Given the description of an element on the screen output the (x, y) to click on. 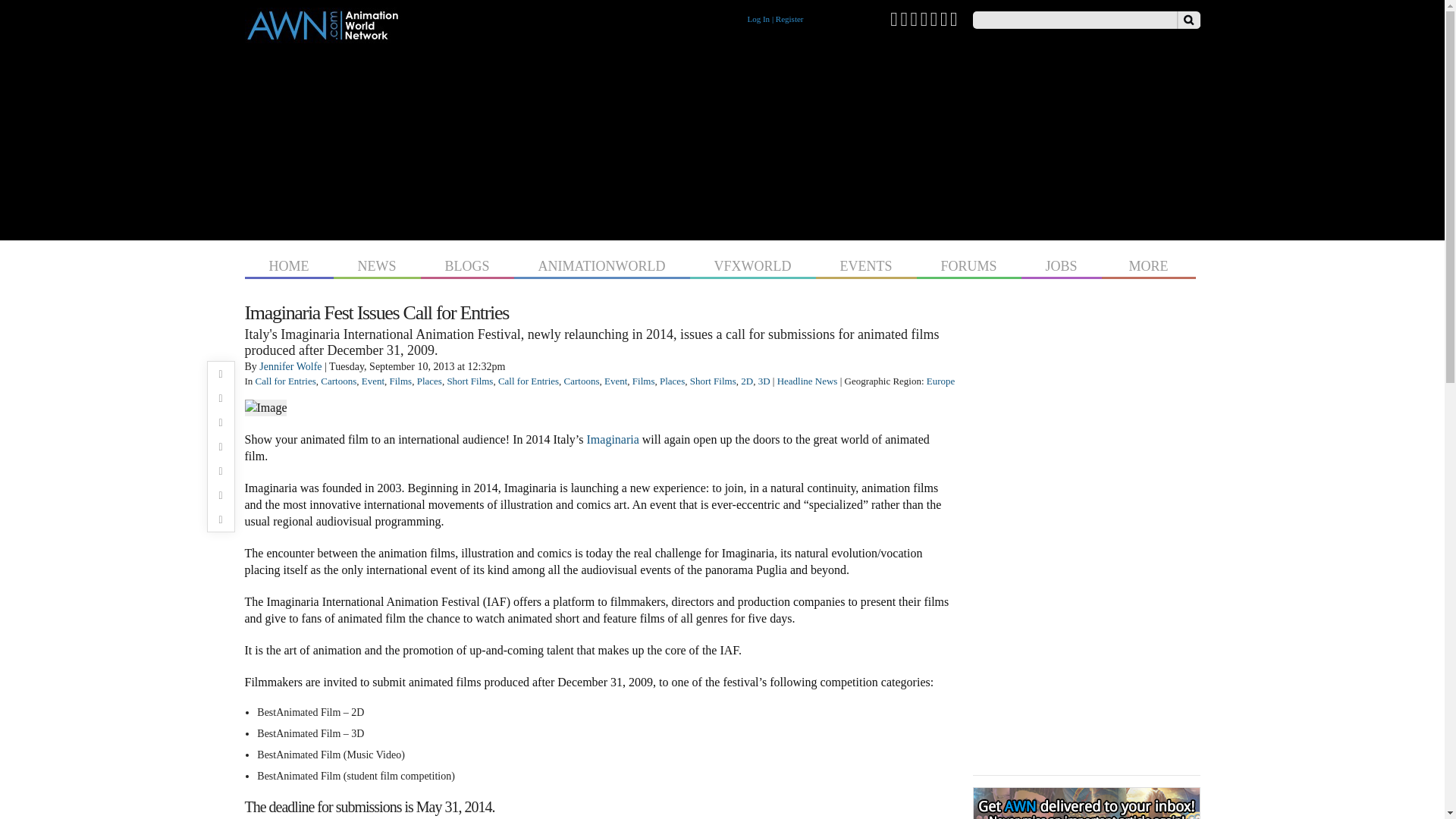
Films (401, 380)
HOME (288, 263)
Search (1187, 19)
Register (789, 18)
Event (372, 380)
Animation World Network (321, 35)
NEWS (376, 263)
3rd party ad content (722, 137)
VFXWORLD (752, 263)
Search (1187, 19)
